Given the description of an element on the screen output the (x, y) to click on. 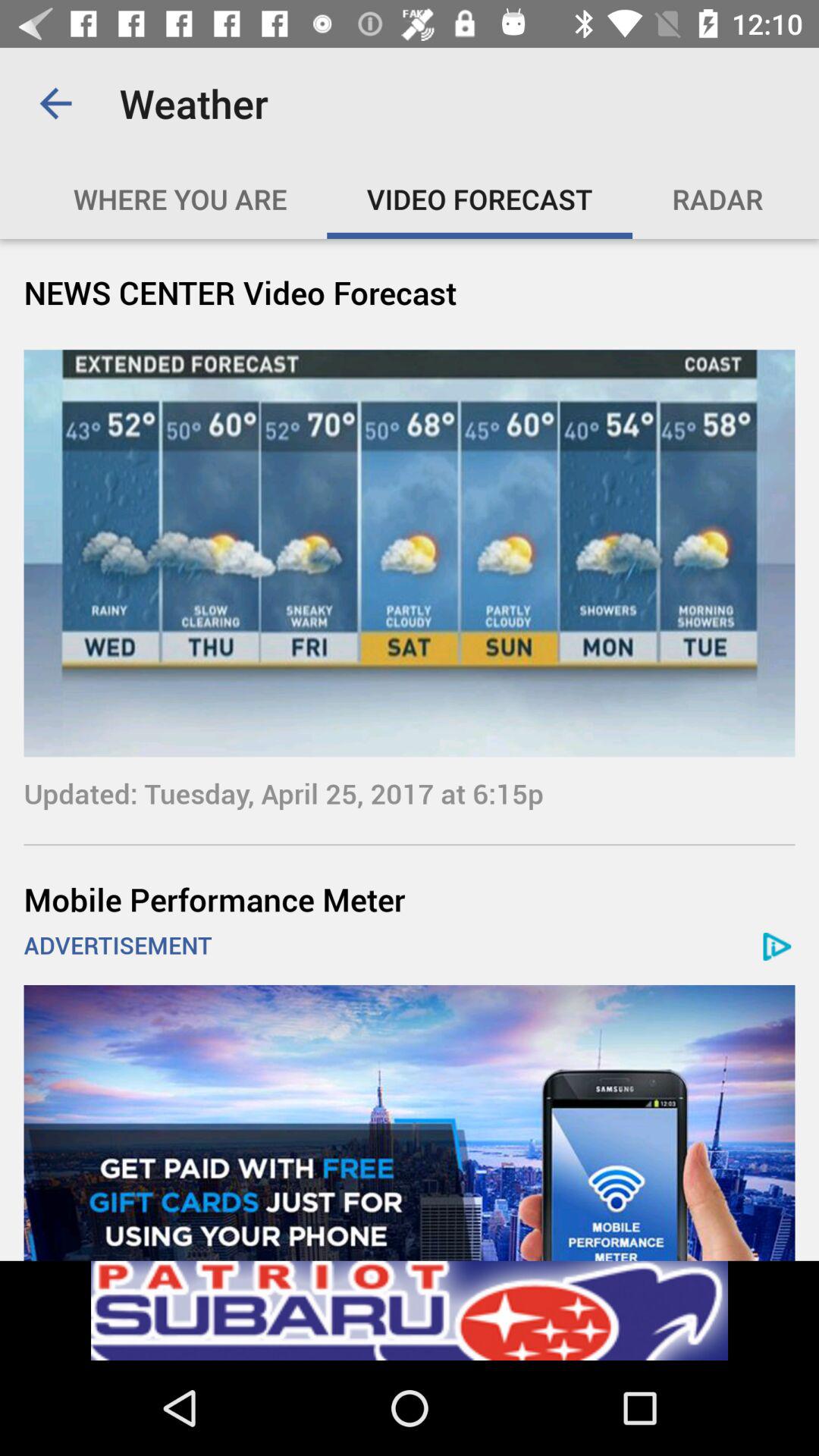
advertisement (409, 1122)
